Given the description of an element on the screen output the (x, y) to click on. 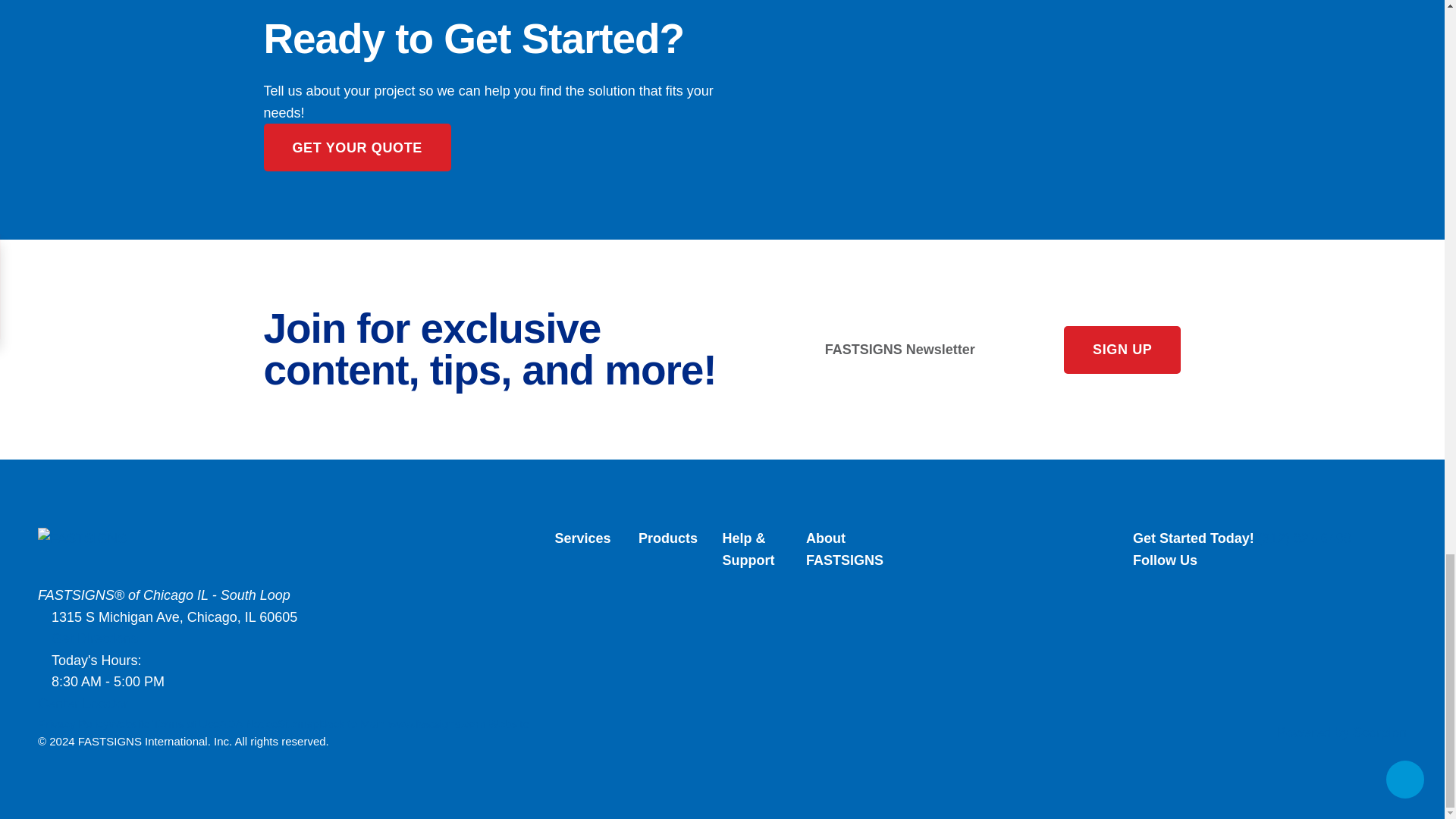
Instagram (1269, 604)
Career Link (1269, 618)
LinkedIn (1269, 591)
Facebook (1269, 577)
